Given the description of an element on the screen output the (x, y) to click on. 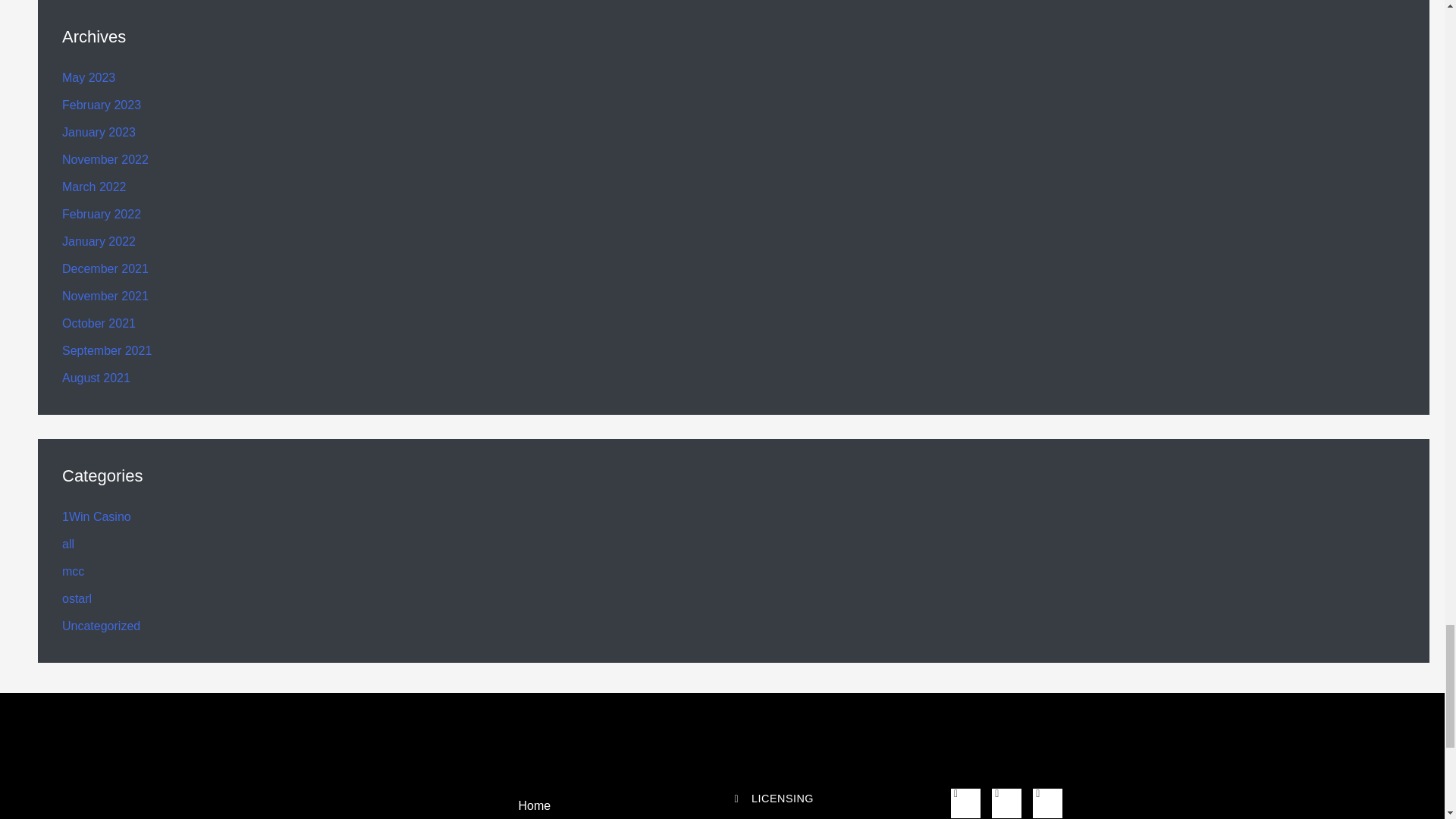
March 2022 (94, 186)
January 2023 (98, 132)
February 2023 (101, 104)
May 2023 (88, 77)
November 2022 (105, 159)
February 2022 (101, 214)
January 2022 (98, 241)
